Given the description of an element on the screen output the (x, y) to click on. 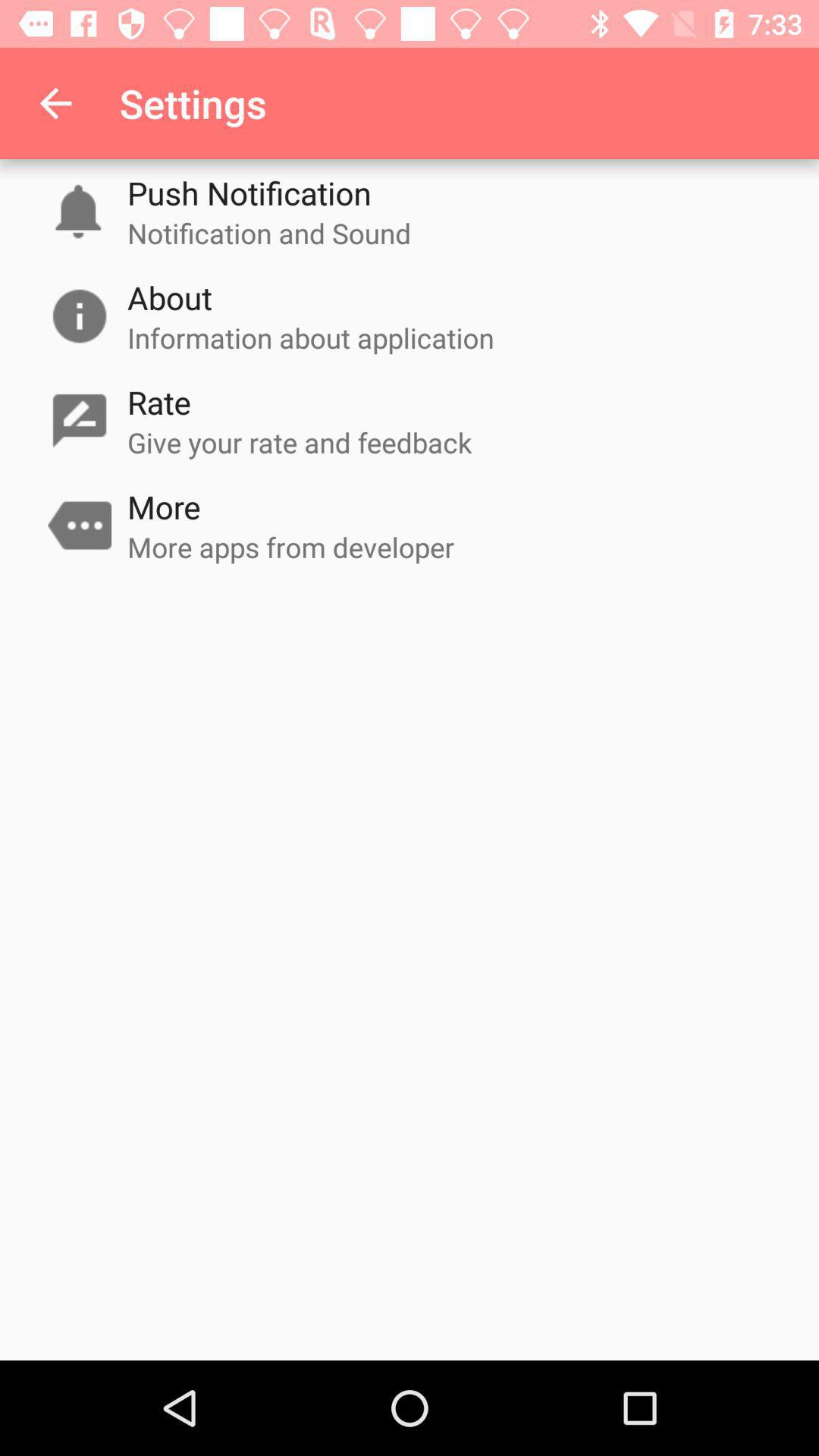
click on the icon which is to the left of rate (79, 420)
click on information icon which is on the left side of about (79, 315)
click on the notification symbol (79, 211)
